Given the description of an element on the screen output the (x, y) to click on. 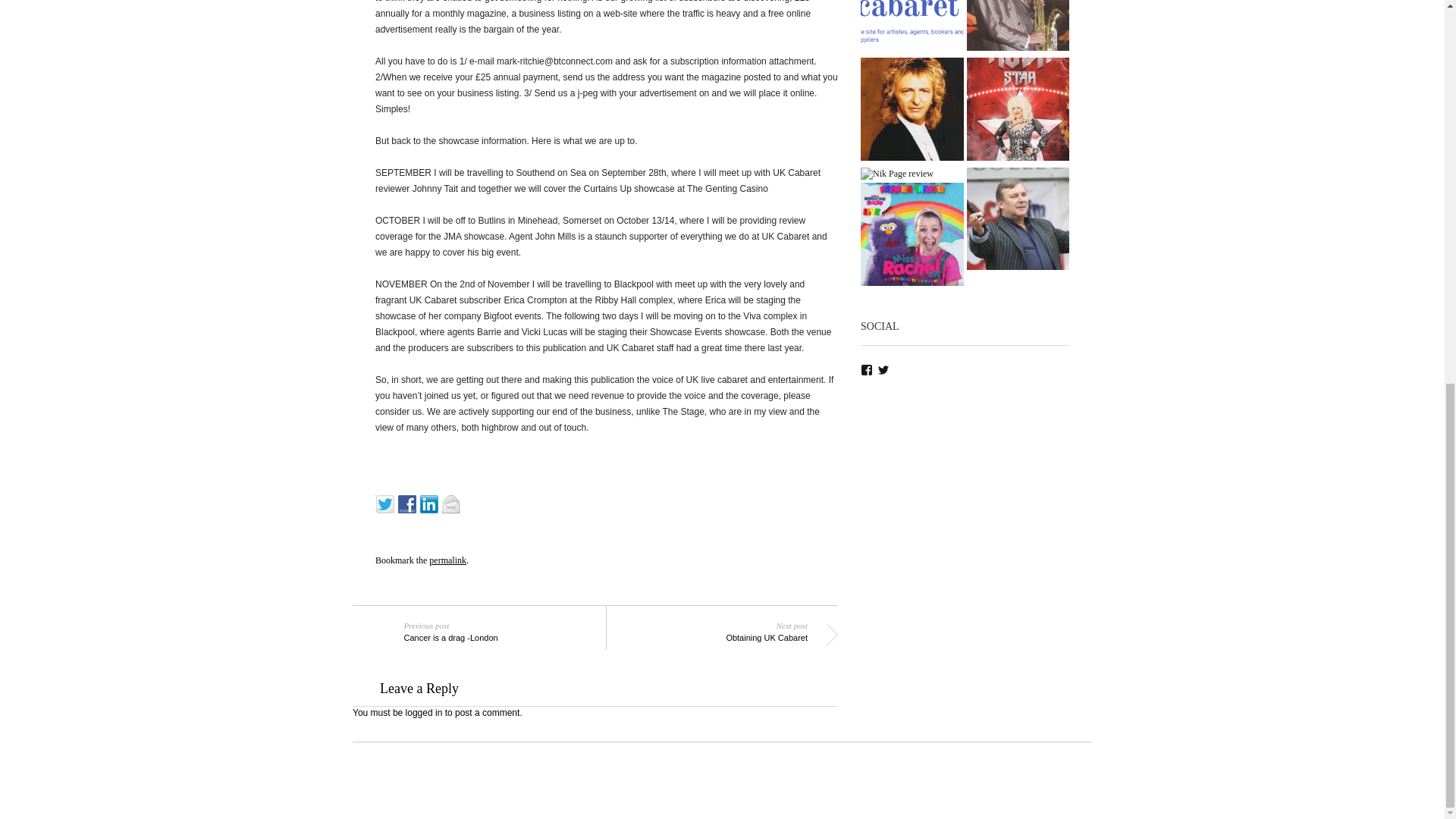
Twitter (386, 502)
Email (453, 502)
permalink (447, 560)
The Fringe of 2024 (712, 630)
Facebook (911, 27)
Linkedin (408, 502)
logged in (431, 502)
